Given the description of an element on the screen output the (x, y) to click on. 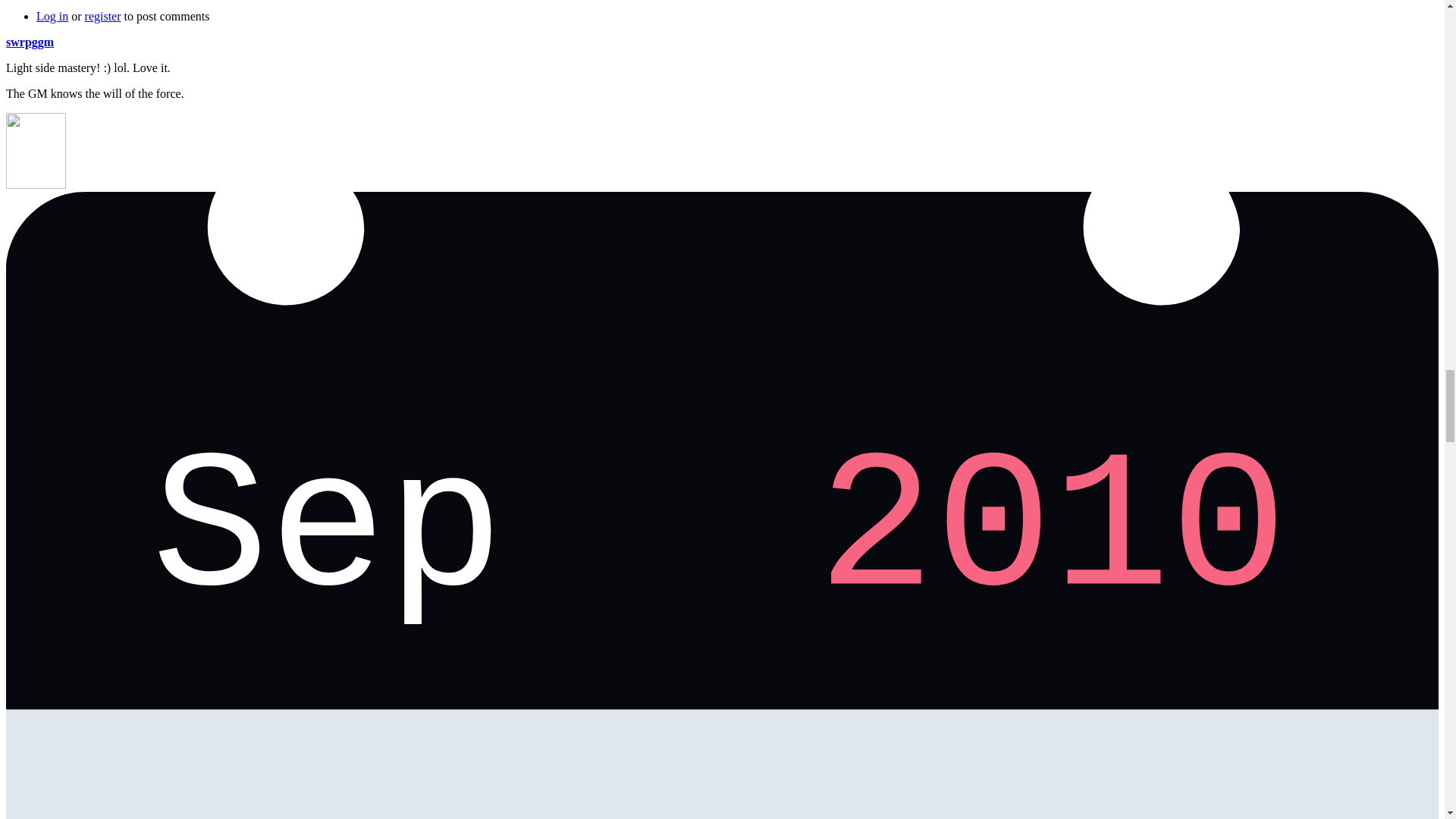
swrpggm (29, 42)
View user profile. (29, 42)
register (102, 15)
Log in (52, 15)
